Given the description of an element on the screen output the (x, y) to click on. 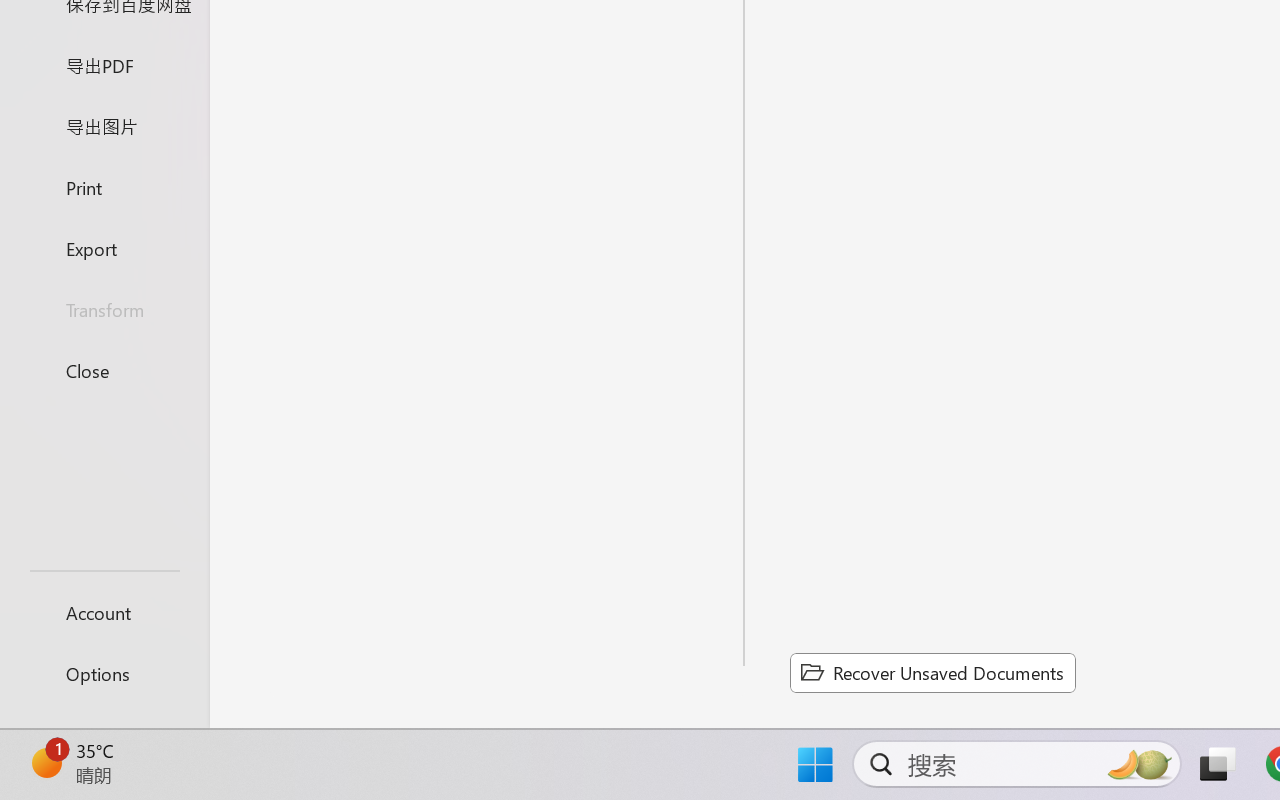
Account (104, 612)
Transform (104, 309)
Export (104, 248)
Print (104, 186)
Recover Unsaved Documents (932, 672)
Options (104, 673)
